Given the description of an element on the screen output the (x, y) to click on. 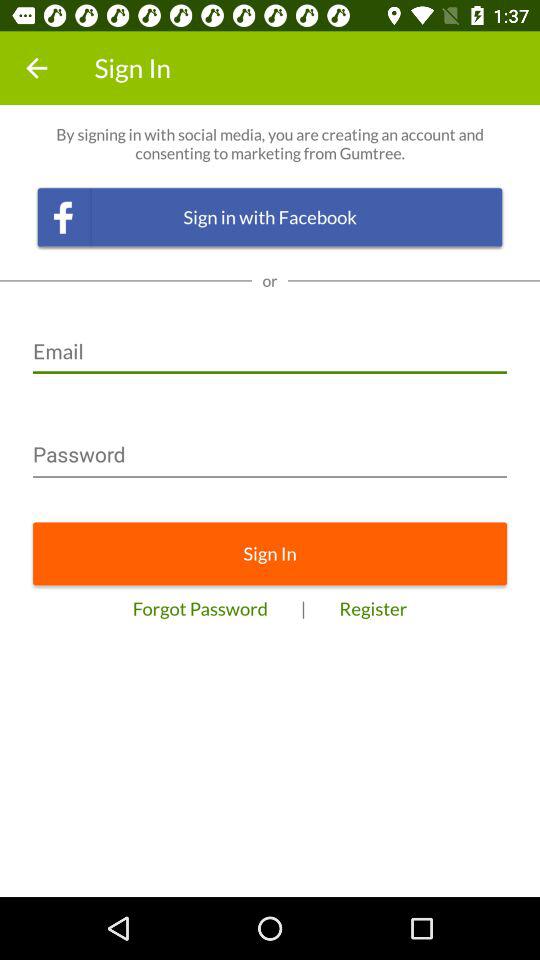
select the item on the right (373, 608)
